Given the description of an element on the screen output the (x, y) to click on. 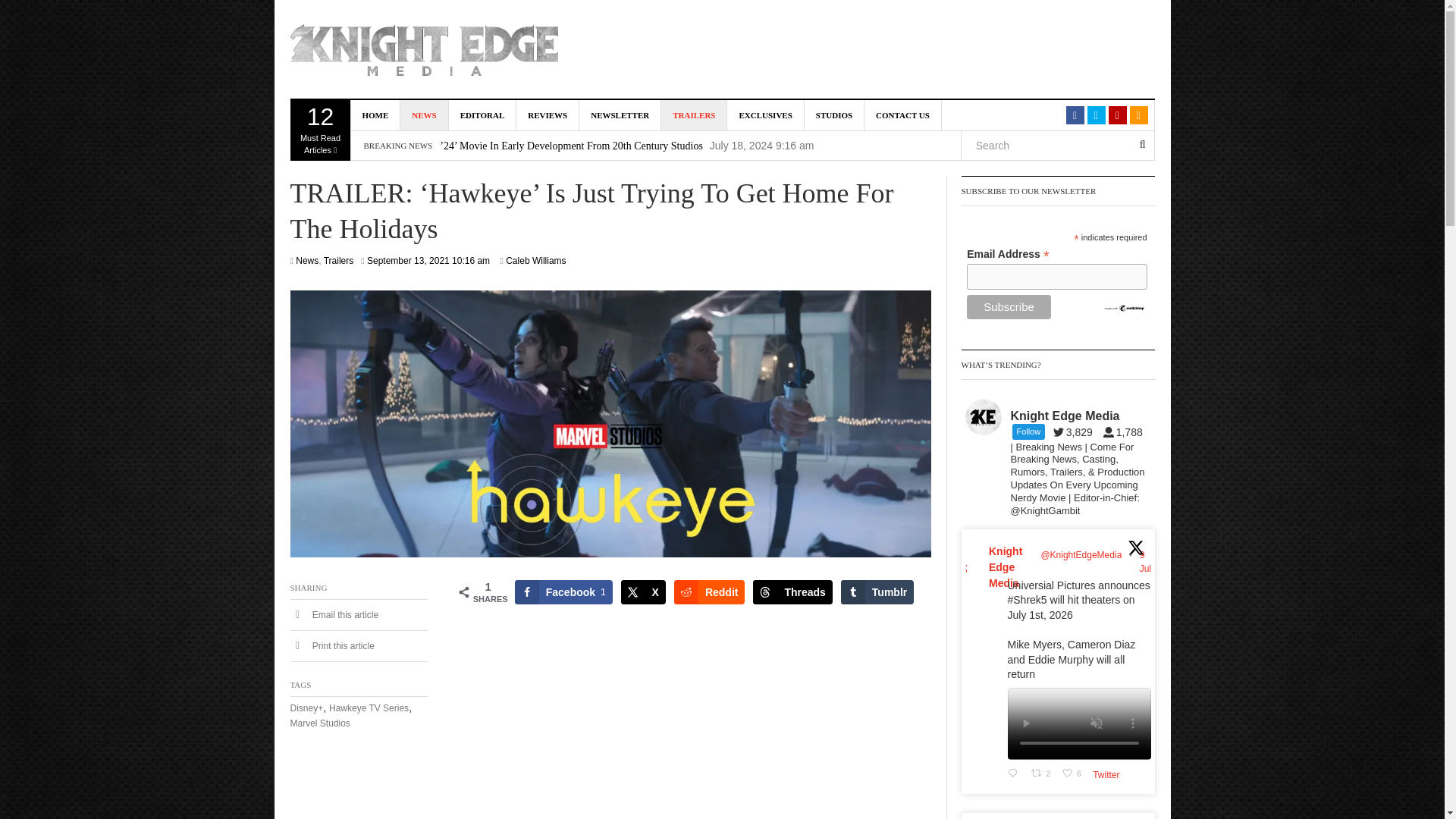
STUDIOS (834, 114)
Share on Threads (791, 591)
Share on X (643, 591)
Share on Facebook (563, 591)
Share on Tumblr (877, 591)
NEWSLETTER (620, 114)
Share on Reddit (709, 591)
REVIEWS (547, 114)
CONTACT US (903, 114)
TRAILERS (693, 114)
NEWS (424, 114)
Subscribe (1008, 306)
EXCLUSIVES (764, 114)
HOME (319, 129)
